Given the description of an element on the screen output the (x, y) to click on. 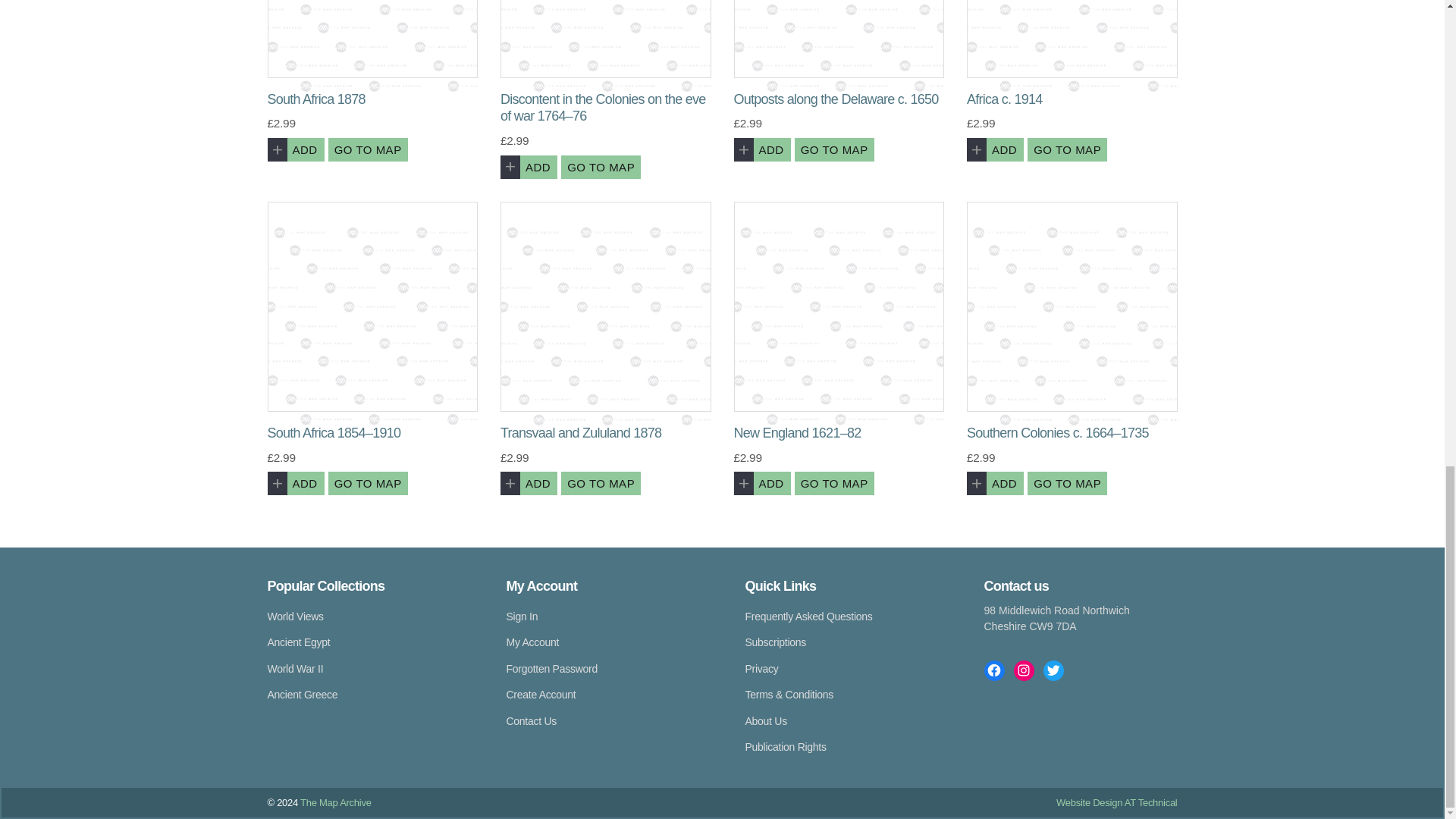
Africa c. 1914 (1071, 38)
South Africa 1878 (371, 38)
Transvaal and Zululand 1878 (605, 306)
Outposts along the Delaware c. 1650 (838, 38)
